Given the description of an element on the screen output the (x, y) to click on. 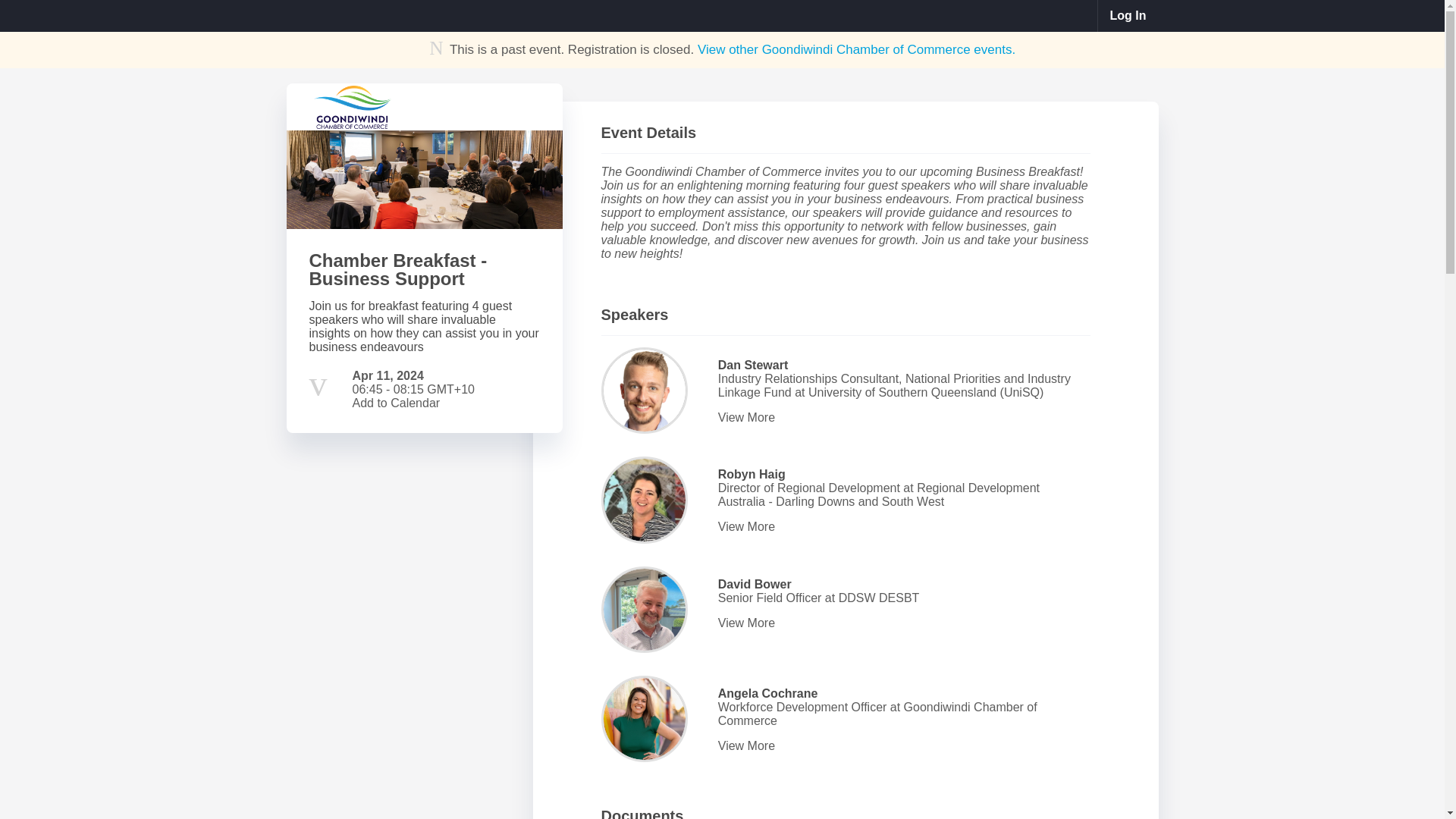
Log In (1127, 15)
Add to Calendar (395, 402)
View More (900, 745)
View other Goondiwindi Chamber of Commerce events. (855, 49)
View More (900, 418)
View More (900, 526)
Sign in (1127, 15)
View More (900, 622)
